Given the description of an element on the screen output the (x, y) to click on. 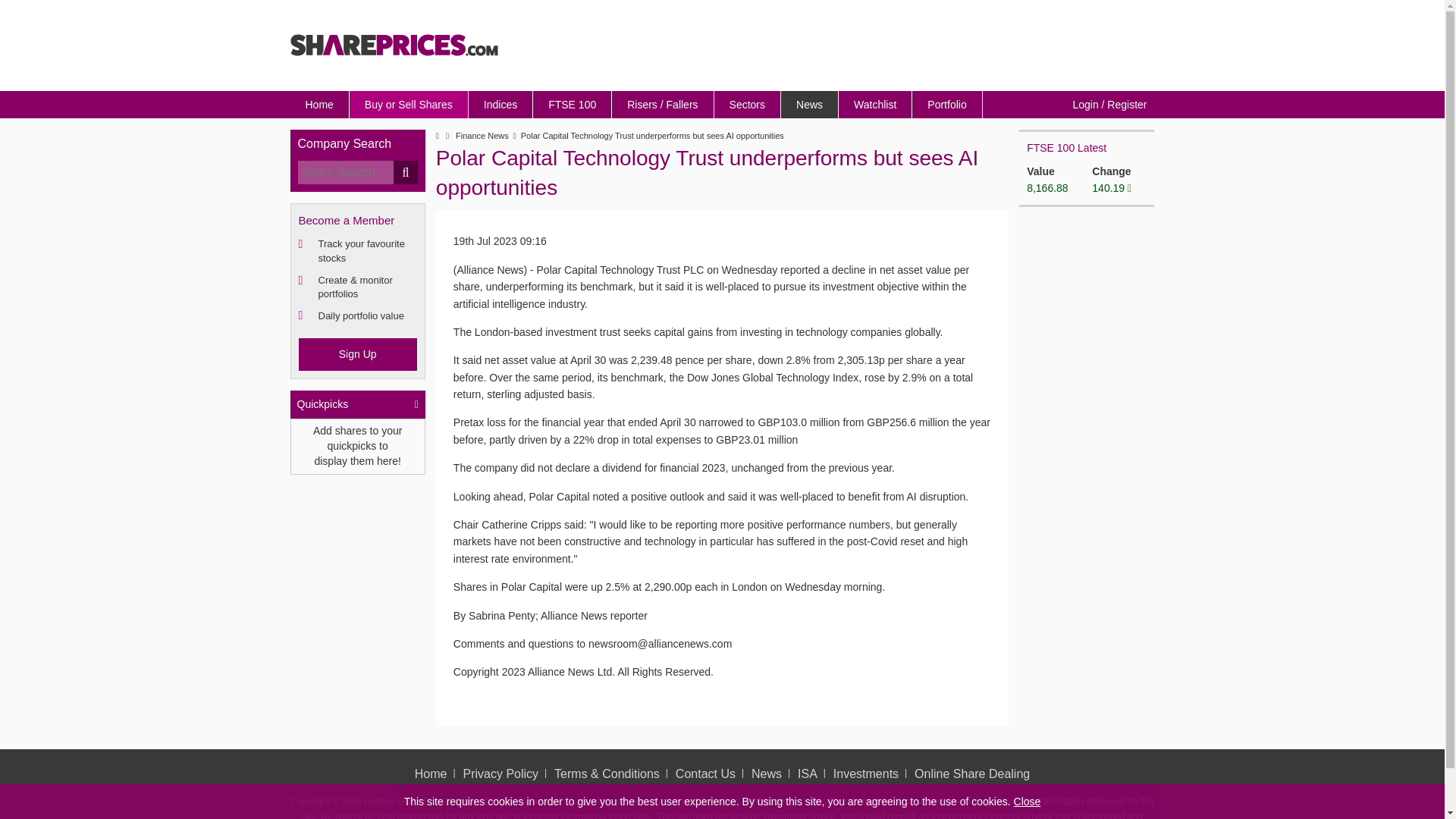
News (766, 773)
ISA (806, 773)
Sectors (747, 103)
Close (1027, 801)
Finance News (481, 136)
Home (430, 773)
Portfolio (946, 103)
FTSE 100 (571, 103)
Investments (865, 773)
